Given the description of an element on the screen output the (x, y) to click on. 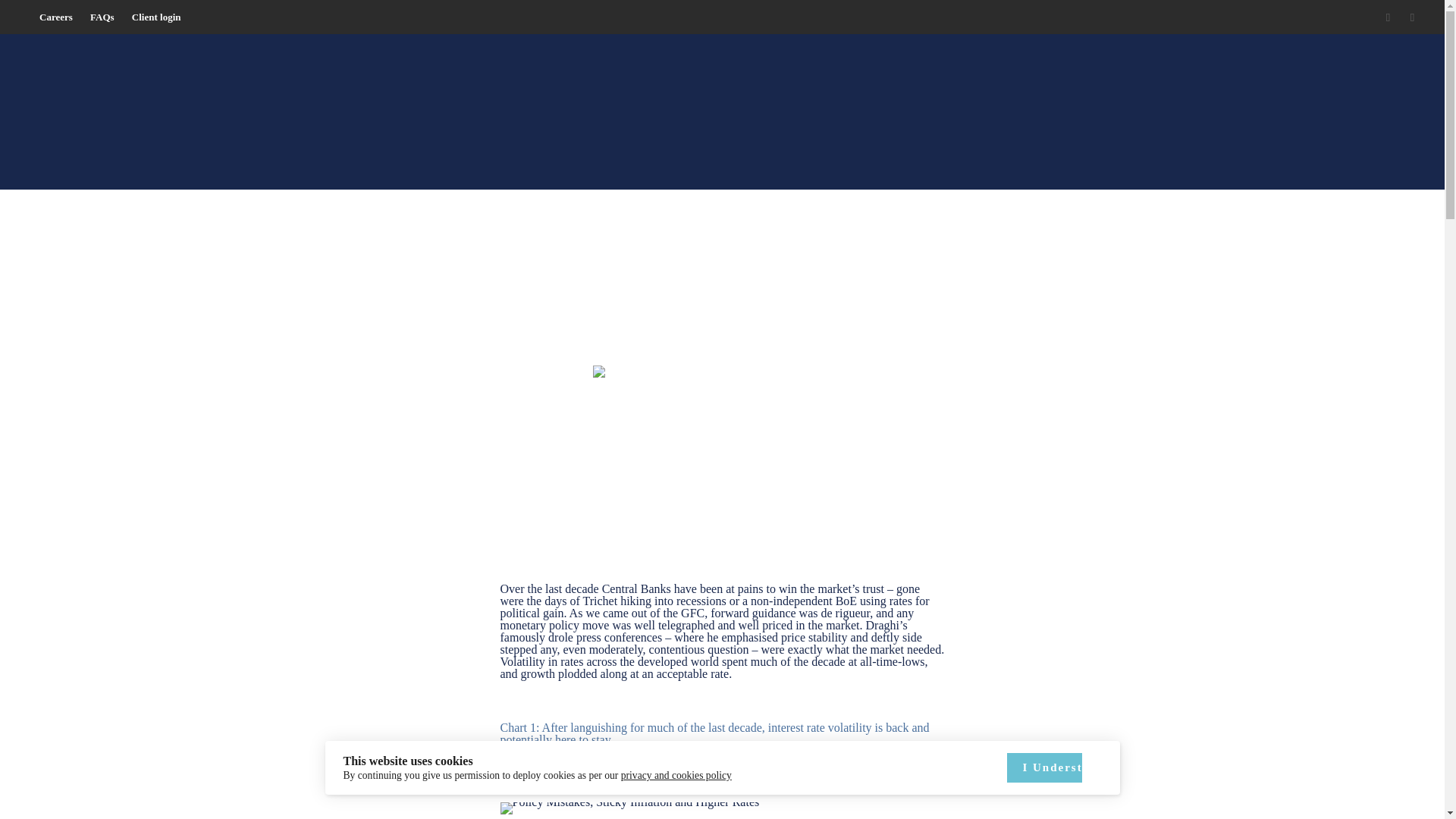
Client login (156, 16)
Careers (55, 16)
FAQs (102, 16)
LinkedIn (1413, 17)
Twitter (1388, 17)
